Given the description of an element on the screen output the (x, y) to click on. 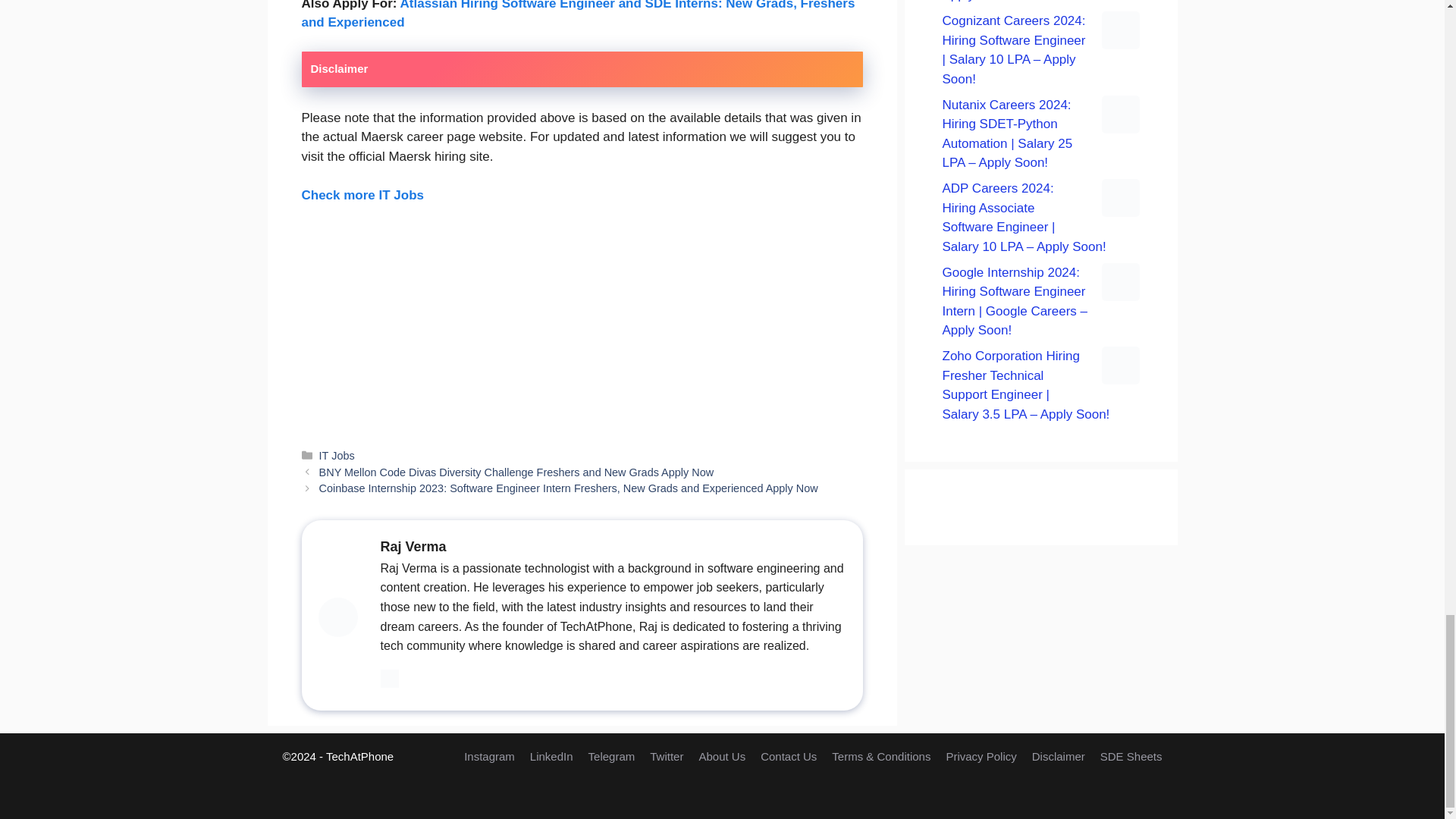
Check more IT Jobs (363, 195)
IT Jobs (336, 455)
